Given the description of an element on the screen output the (x, y) to click on. 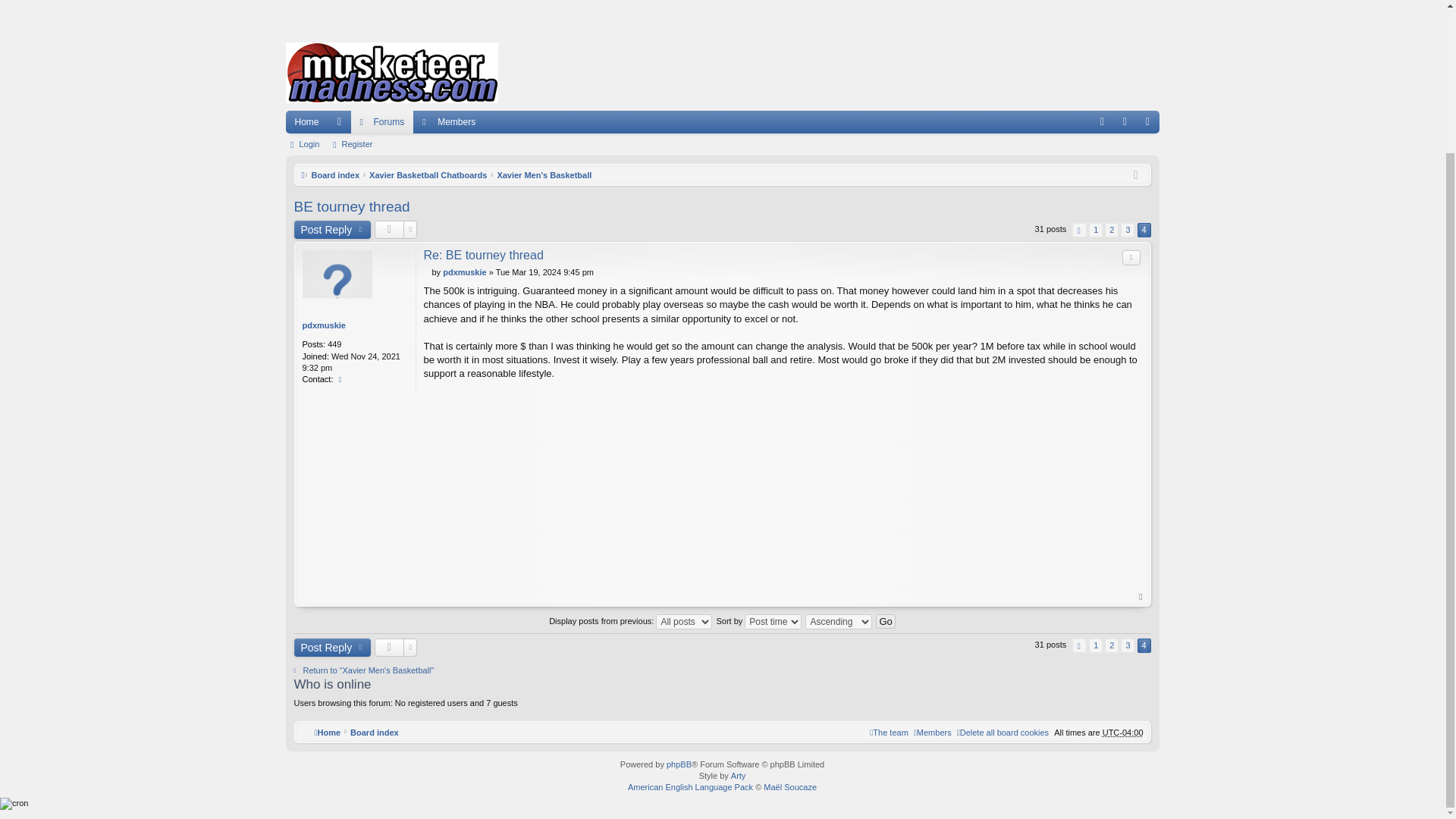
Board index (335, 175)
Re: BE tourney thread (483, 254)
Xavier Men's Basketball (543, 175)
Members (448, 121)
FAQ (1101, 121)
Quick links (339, 121)
Previous (1078, 229)
2 (1111, 229)
BE tourney thread (352, 206)
Post Reply (332, 229)
